Given the description of an element on the screen output the (x, y) to click on. 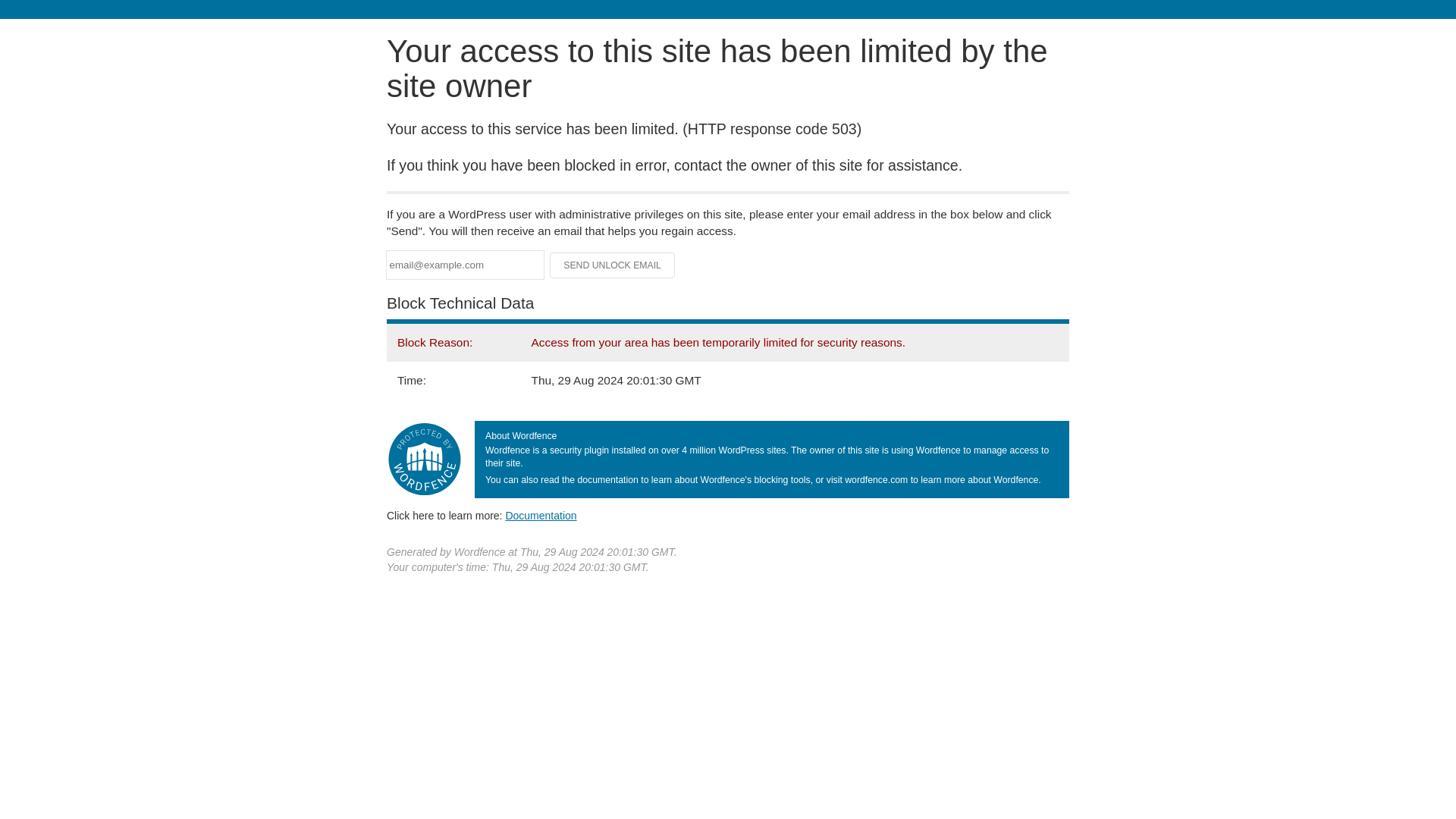
Send Unlock Email (612, 265)
Send Unlock Email (612, 265)
Documentation (540, 515)
